Given the description of an element on the screen output the (x, y) to click on. 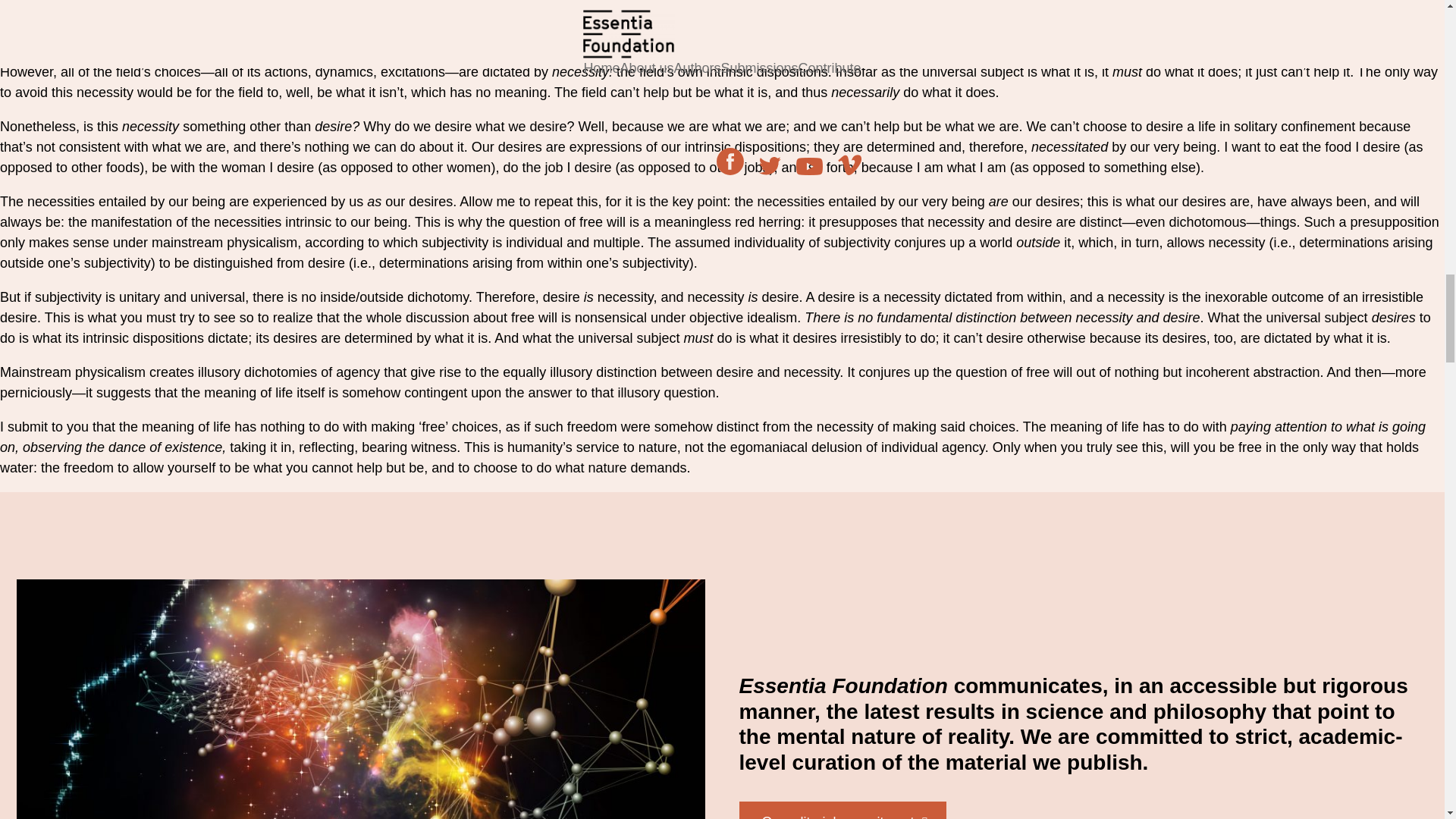
About us (841, 810)
Our editorial commitment (841, 810)
